Given the description of an element on the screen output the (x, y) to click on. 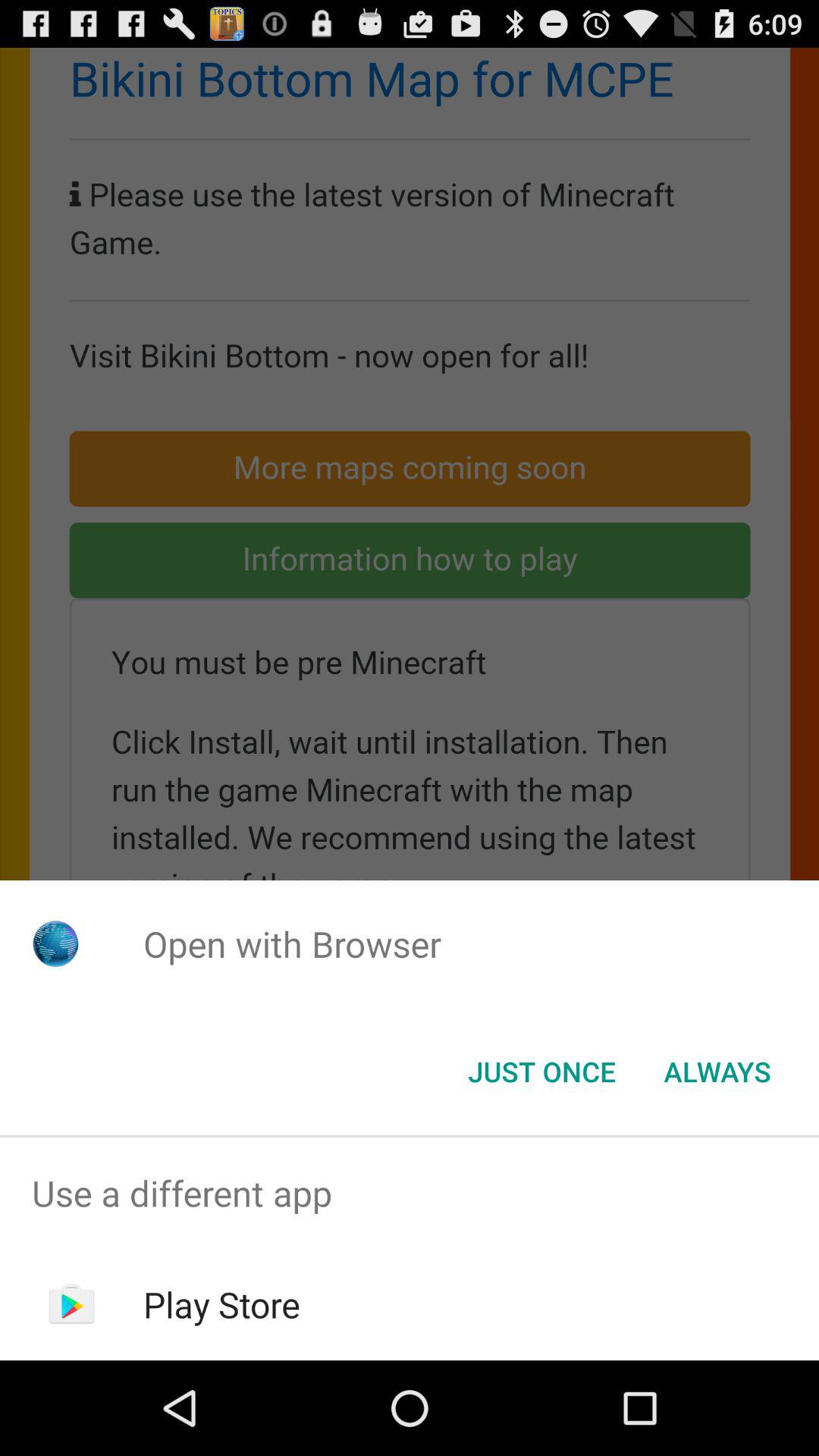
swipe to the use a different (409, 1192)
